Given the description of an element on the screen output the (x, y) to click on. 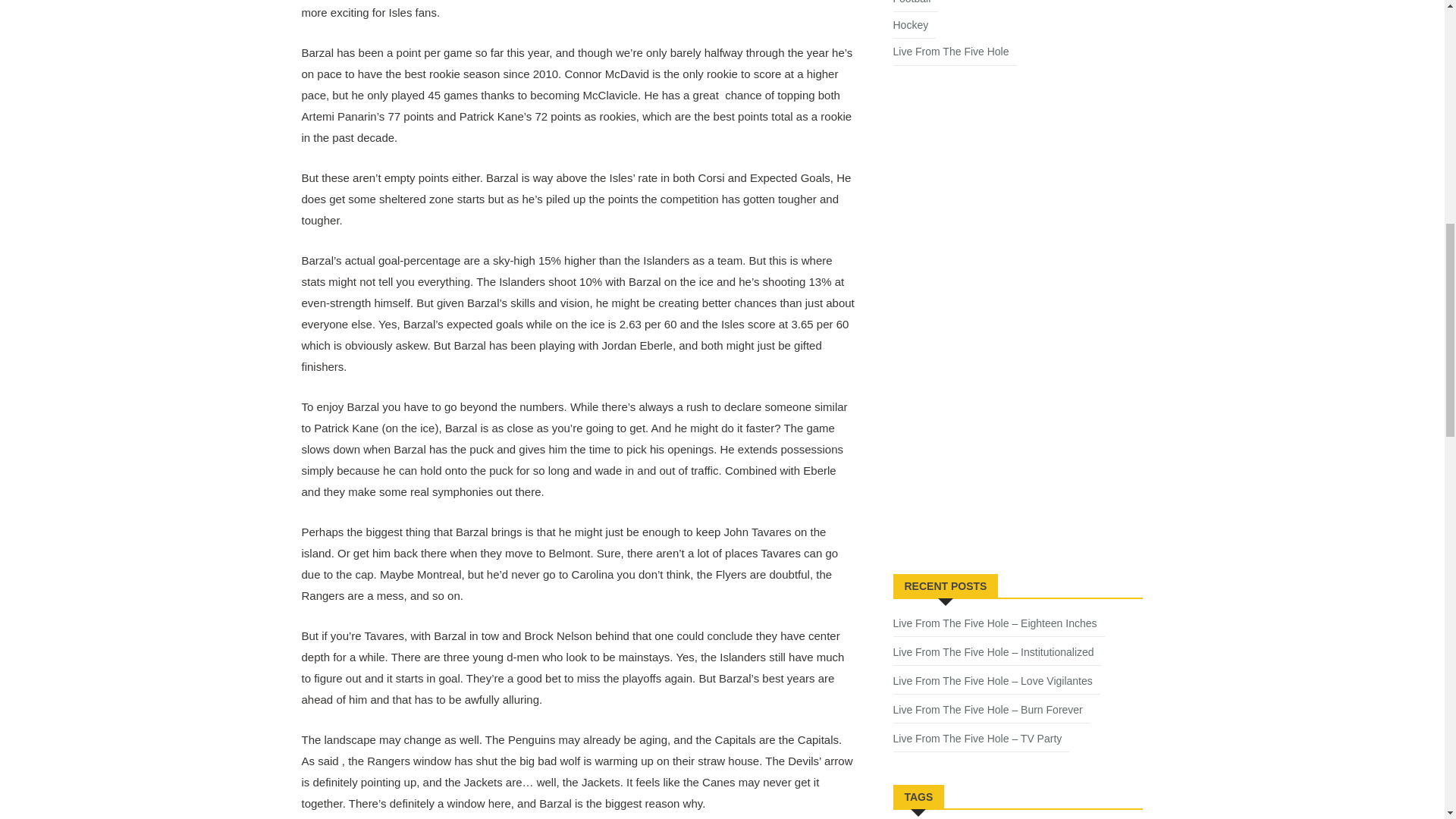
Advertisement (1007, 443)
Football (916, 6)
Live From The Five Hole (954, 55)
Hockey (914, 28)
